Given the description of an element on the screen output the (x, y) to click on. 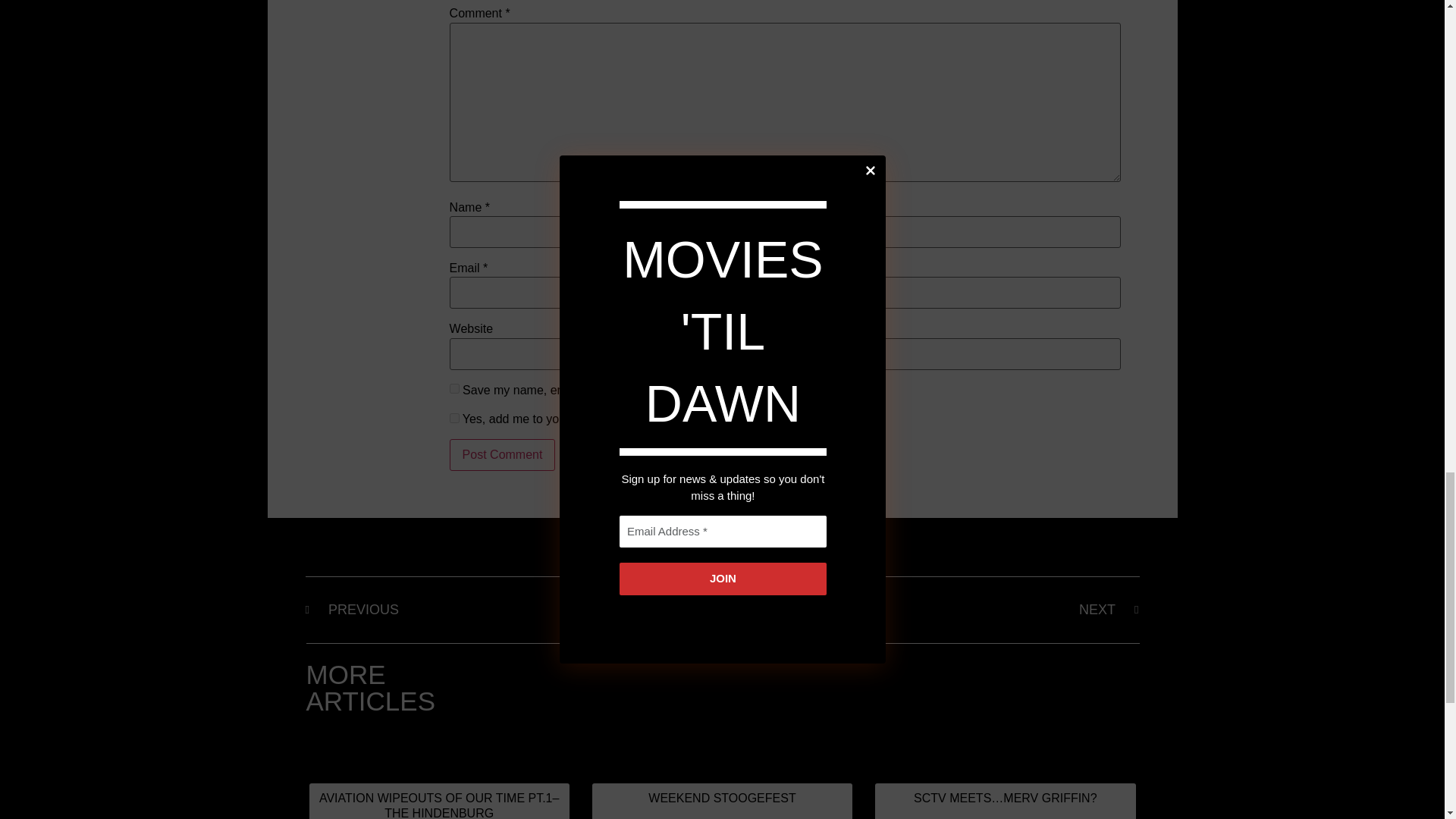
Post Comment (502, 454)
1 (454, 418)
yes (454, 388)
